Given the description of an element on the screen output the (x, y) to click on. 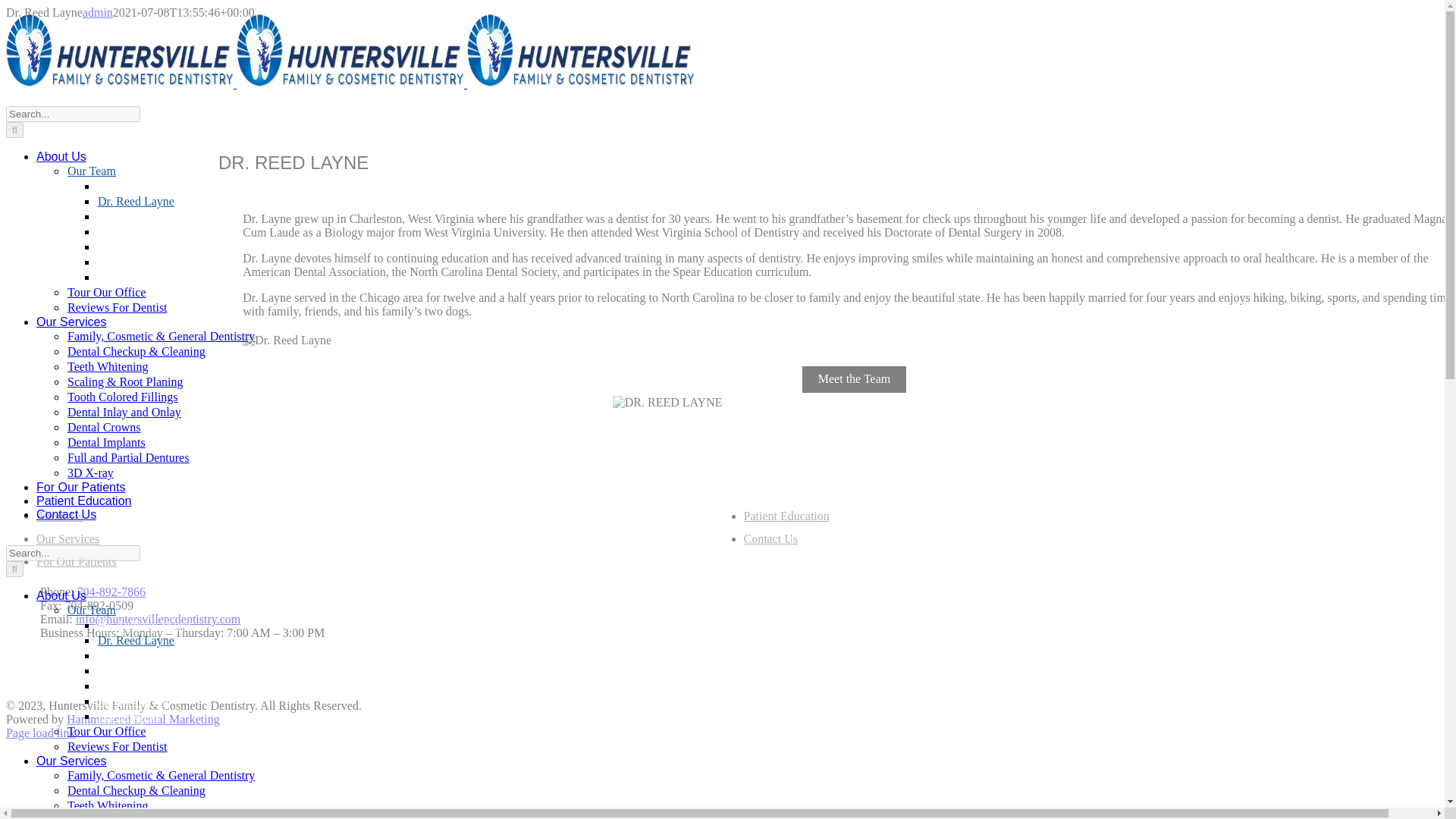
layne signature (287, 340)
Nichole Niemiec (138, 231)
About Us (60, 155)
Dental Implants (106, 441)
Dana Caffey (128, 216)
Liz Deletzke (128, 277)
Dr. Reed Layne (135, 640)
Janelle Harrell (133, 261)
Tabitha Mills (130, 685)
Tooth Colored Fillings (122, 396)
Teeth Whitening (107, 366)
Dental Inlay and Onlay (124, 411)
Dr. Anthony Marra (143, 625)
Tour Our Office (106, 292)
